Given the description of an element on the screen output the (x, y) to click on. 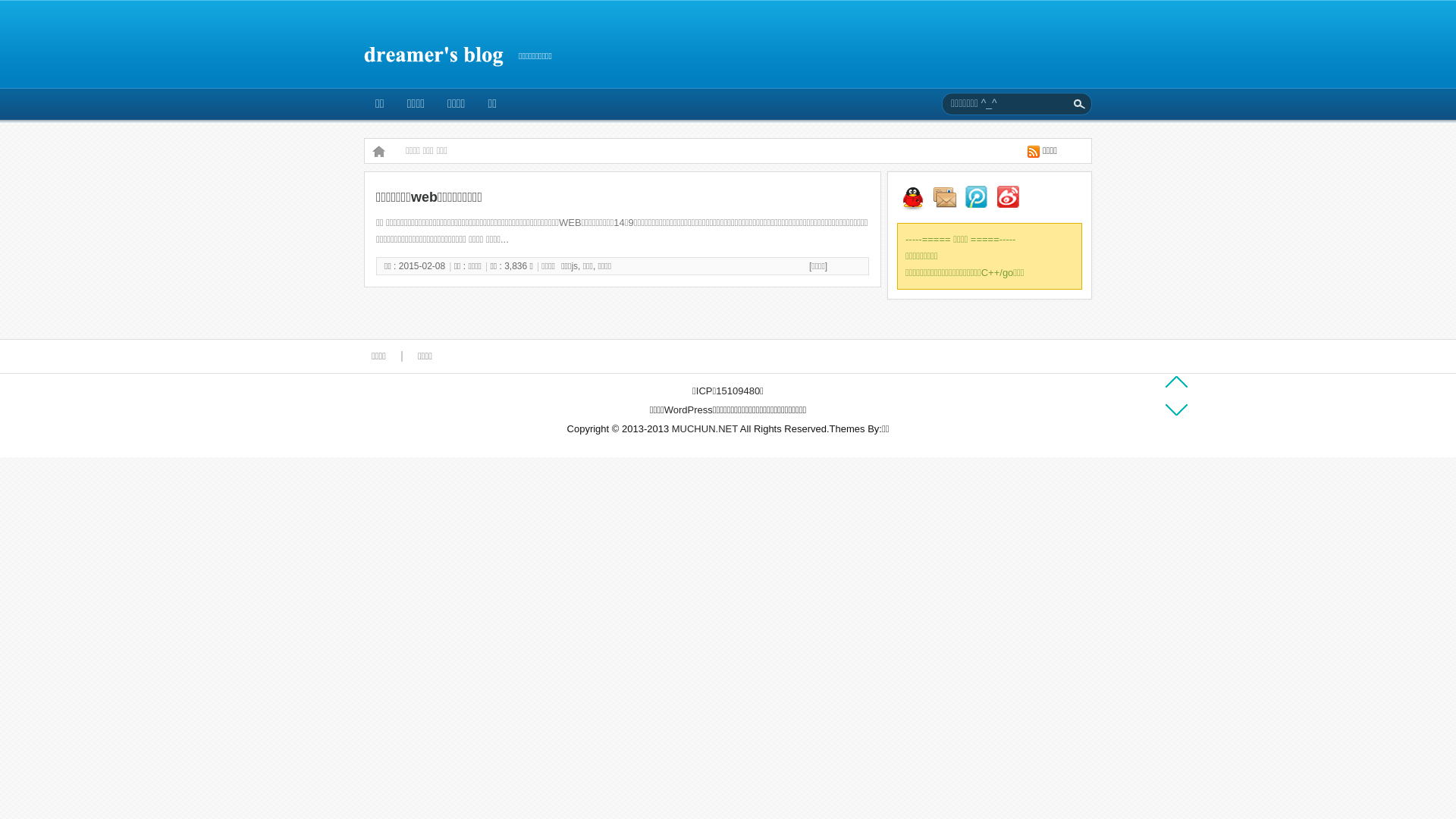
MUCHUN.NET Element type: text (704, 428)
home Element type: text (378, 150)
js Element type: text (574, 265)
WordPress Element type: text (688, 409)
